Given the description of an element on the screen output the (x, y) to click on. 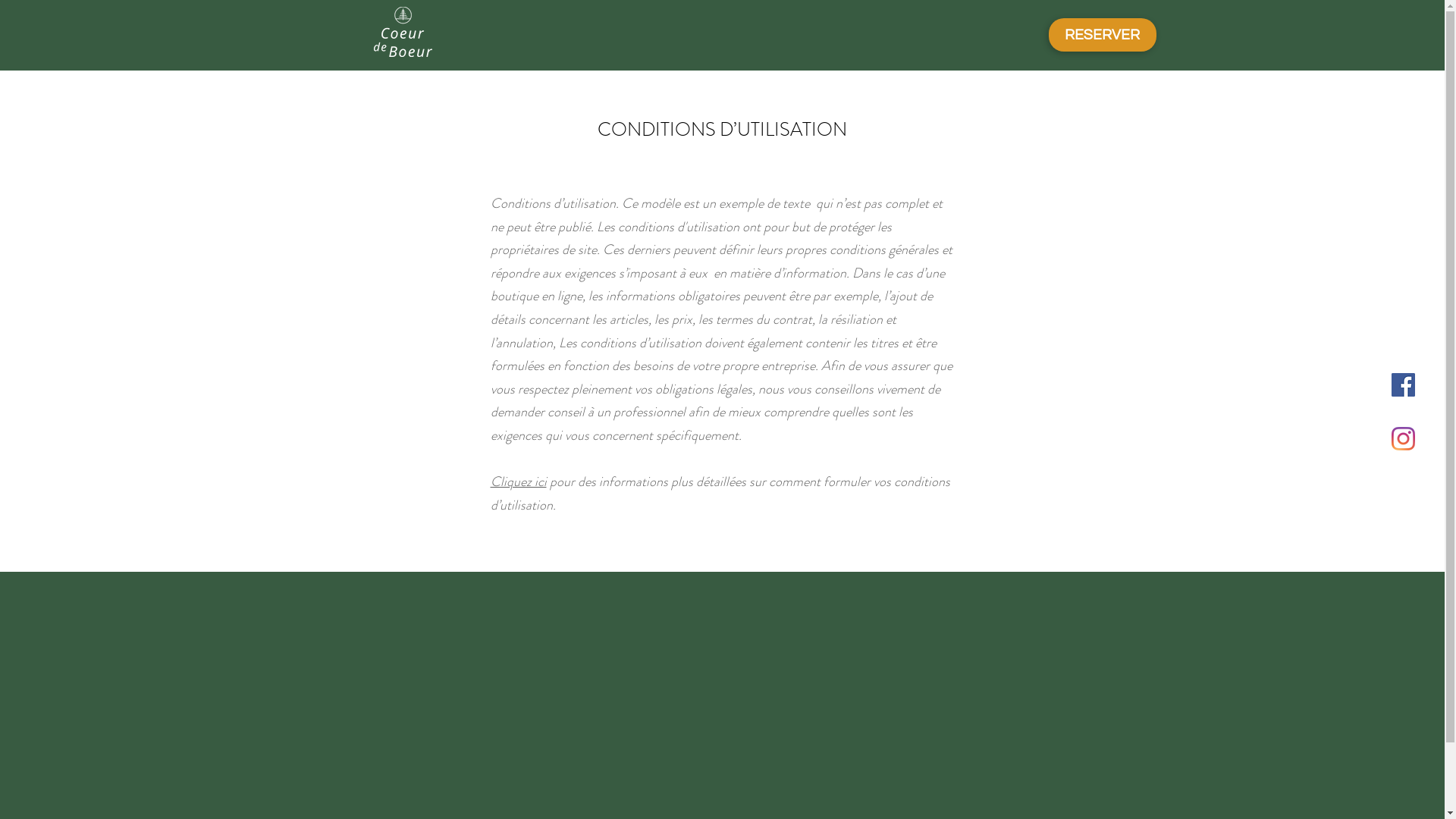
RESERVER Element type: text (1101, 34)
Cliquez ici Element type: text (517, 481)
